Given the description of an element on the screen output the (x, y) to click on. 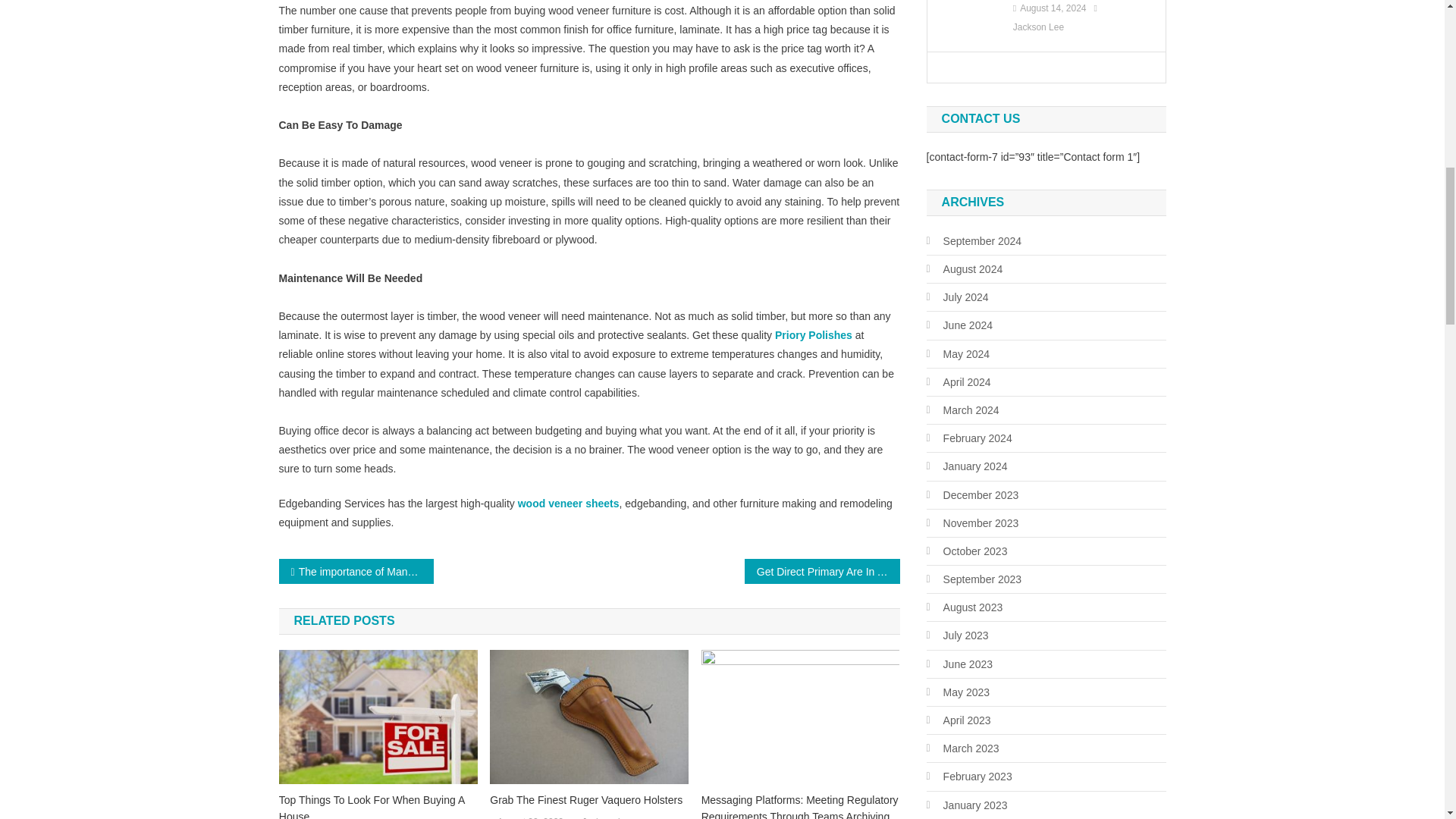
Get Direct Primary Are In American Fork (821, 570)
Priory Polishes (812, 335)
Top Things To Look For When Buying A House (378, 805)
August 22, 2022 (530, 816)
Grab The Finest Ruger Vaquero Holsters (588, 799)
wood veneer sheets (569, 503)
Jackson Lee (605, 816)
